Given the description of an element on the screen output the (x, y) to click on. 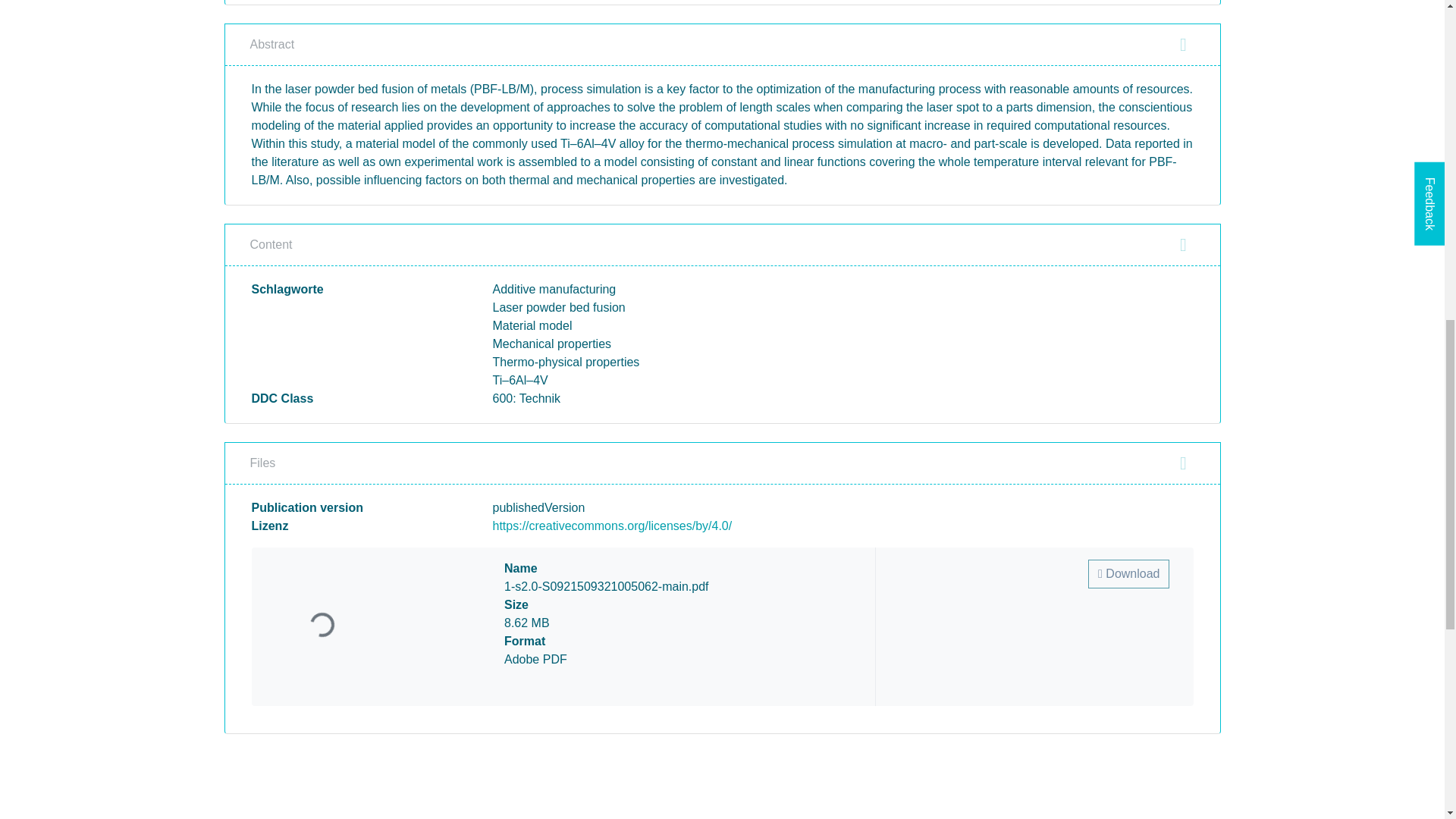
Close section (1183, 45)
Close section (1183, 463)
Close section (1183, 244)
